Given the description of an element on the screen output the (x, y) to click on. 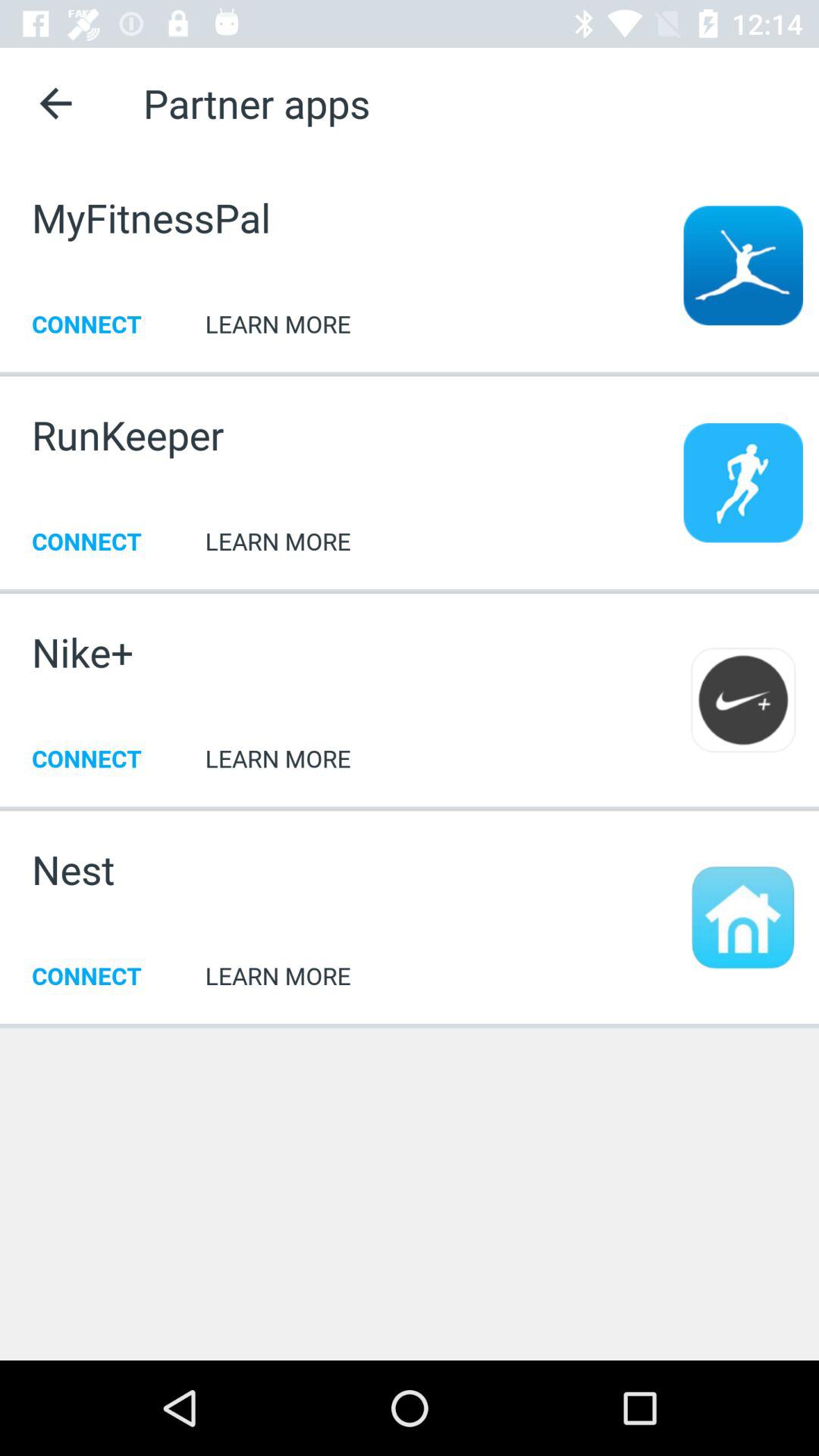
tap the item above myfitnesspal icon (55, 103)
